Given the description of an element on the screen output the (x, y) to click on. 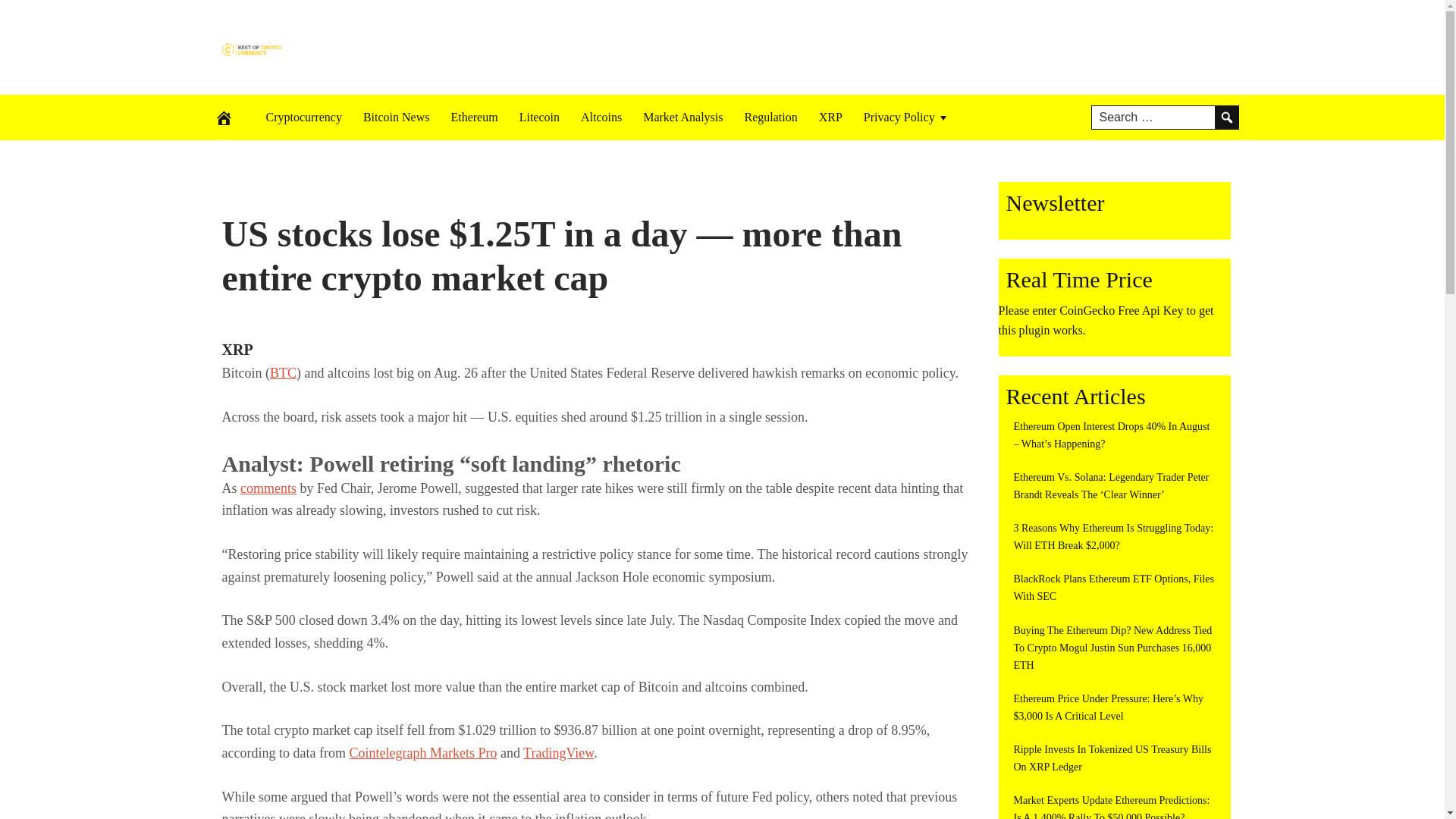
XRP (236, 349)
Altcoins (600, 117)
Ethereum (473, 117)
Regulation (770, 117)
BTC (283, 372)
Cryptocurrency (303, 117)
Litecoin (539, 117)
TradingView (558, 752)
comments (268, 488)
Cointelegraph Markets Pro (422, 752)
